Given the description of an element on the screen output the (x, y) to click on. 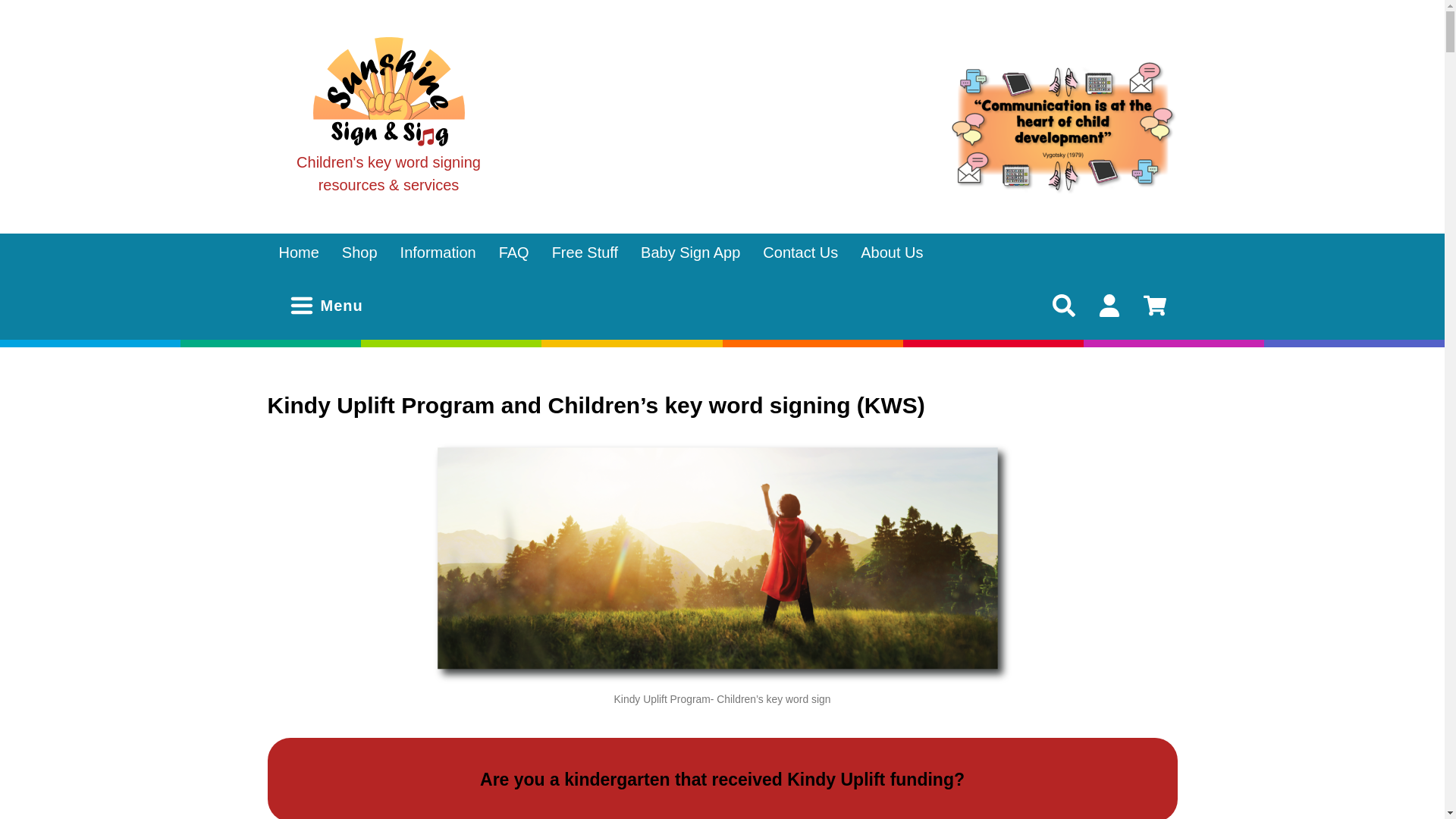
Contact Us (799, 252)
Home (298, 252)
Free Stuff (584, 252)
FAQ (513, 252)
About Us (891, 252)
Search (29, 11)
Information (437, 252)
Baby Sign App (689, 252)
Shop (359, 252)
